Given the description of an element on the screen output the (x, y) to click on. 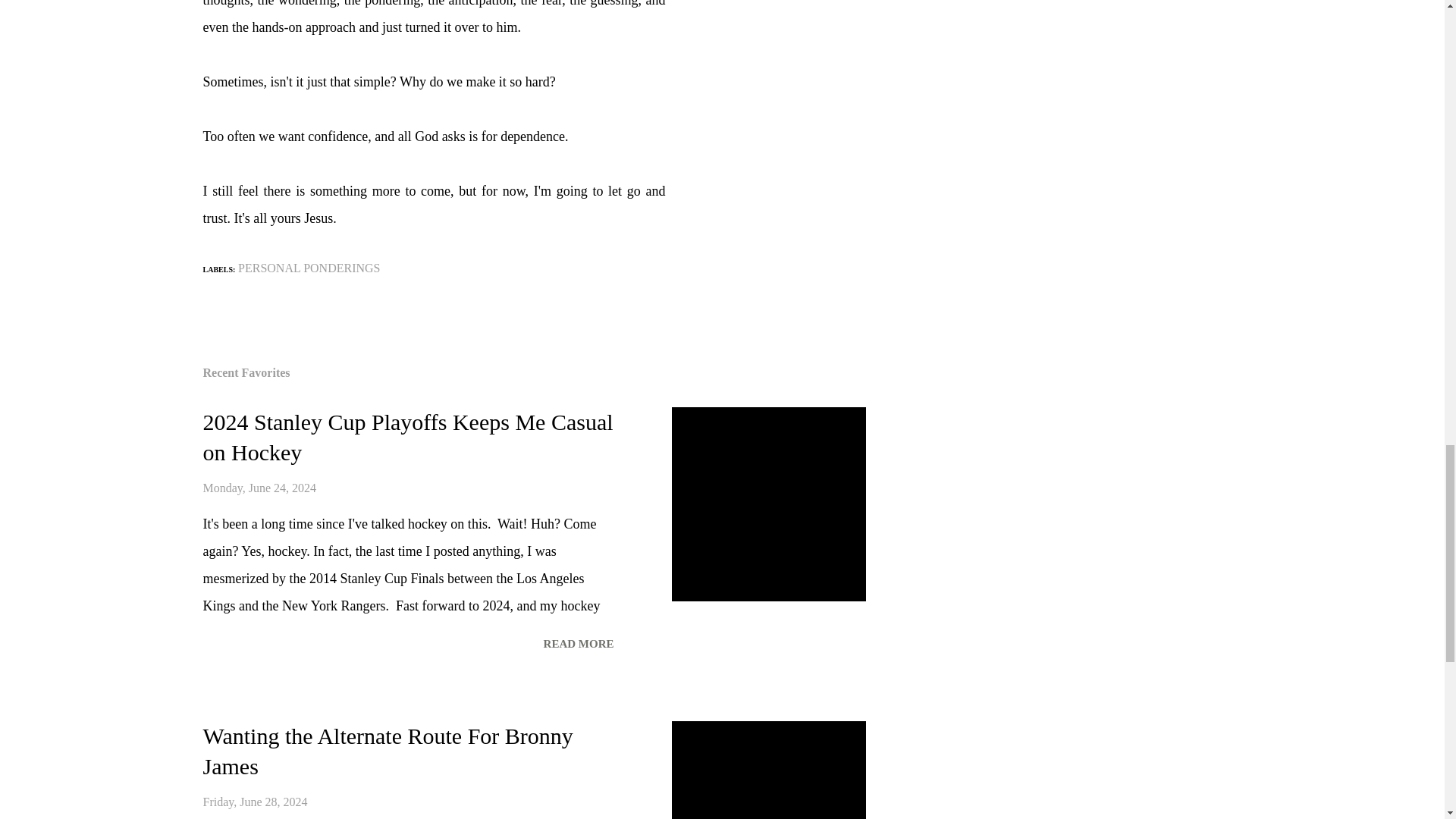
permanent link (260, 487)
2024 Stanley Cup Playoffs Keeps Me Casual on Hockey (407, 437)
Monday, June 24, 2024 (260, 487)
PERSONAL PONDERINGS (309, 268)
permanent link (255, 801)
Wanting the Alternate Route For Bronny James (388, 750)
READ MORE (578, 643)
Friday, June 28, 2024 (255, 801)
2024 Stanley Cup Playoffs Keeps Me Casual on Hockey (578, 643)
